Given the description of an element on the screen output the (x, y) to click on. 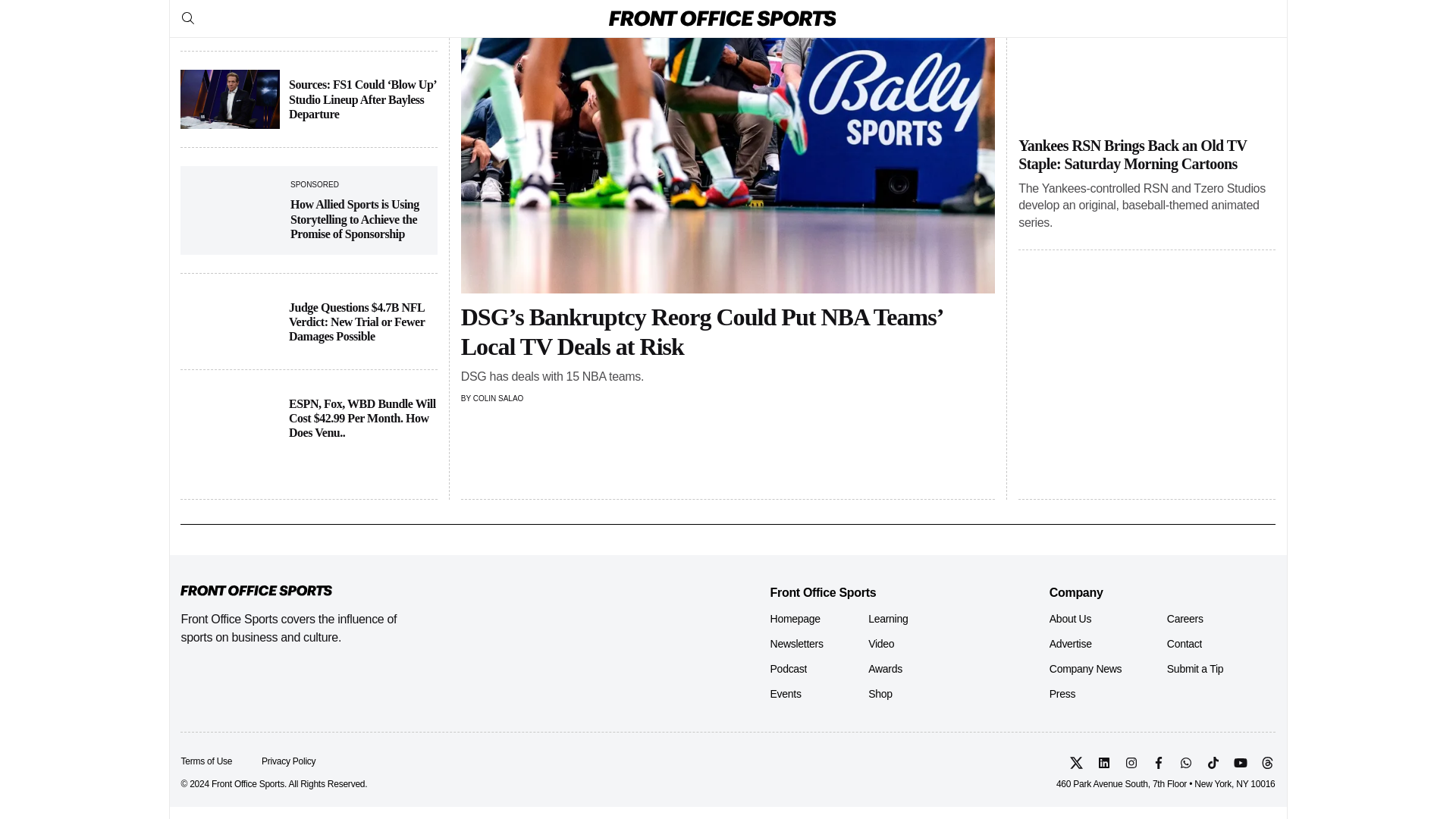
Posts by Colin Salao (498, 397)
